Given the description of an element on the screen output the (x, y) to click on. 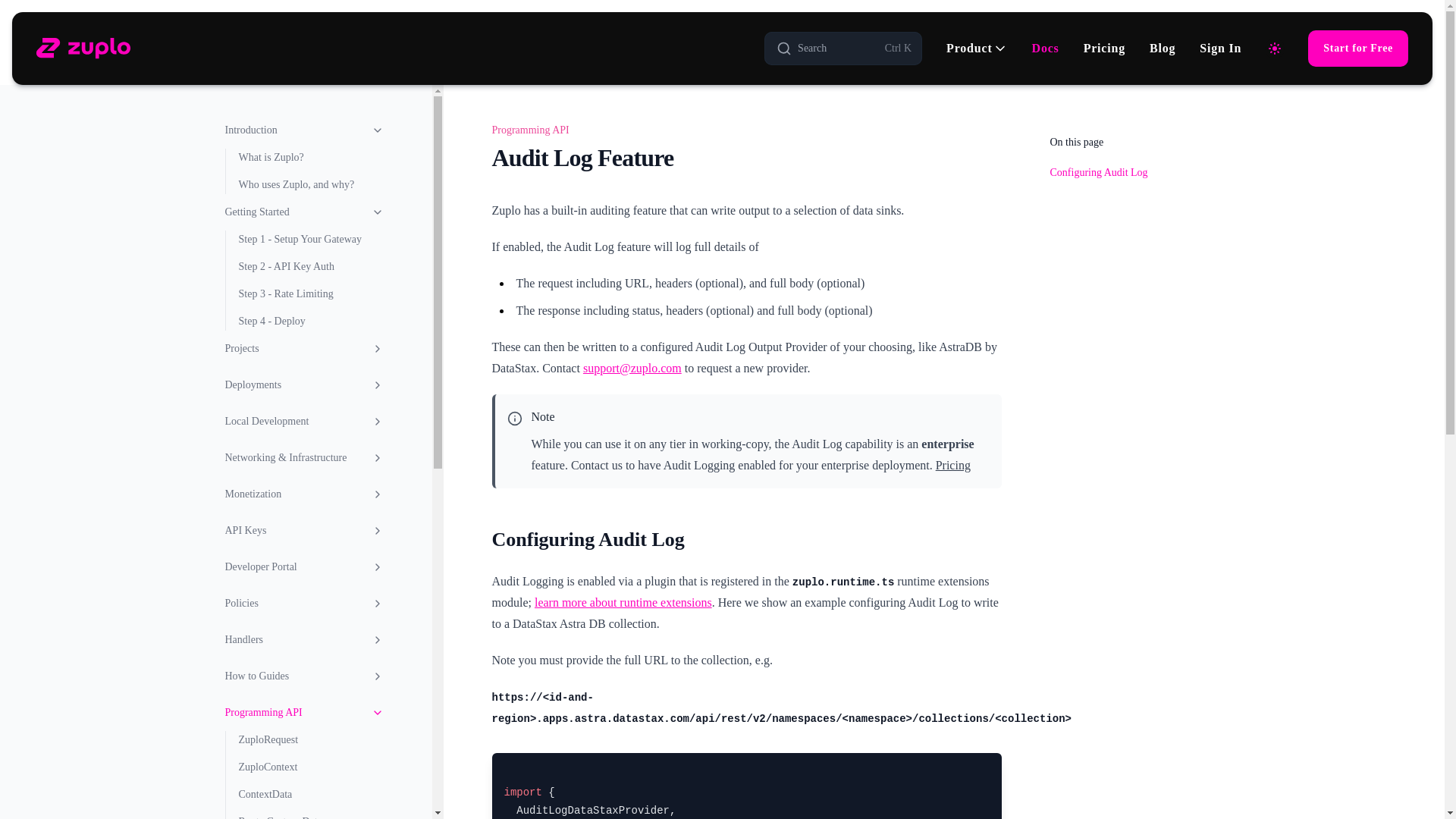
Projects (303, 348)
Step 4 - Deploy (310, 321)
Docs (1045, 48)
Start for Free (1357, 48)
Sign In (1220, 48)
Step 1 - Setup Your Gateway (310, 239)
Step 3 - Rate Limiting (310, 294)
Step 2 - API Key Auth (310, 266)
Configuring Audit Log (746, 539)
Product (976, 48)
Deployments (842, 48)
Getting Started (303, 384)
Blog (303, 212)
Introduction (1162, 48)
